Given the description of an element on the screen output the (x, y) to click on. 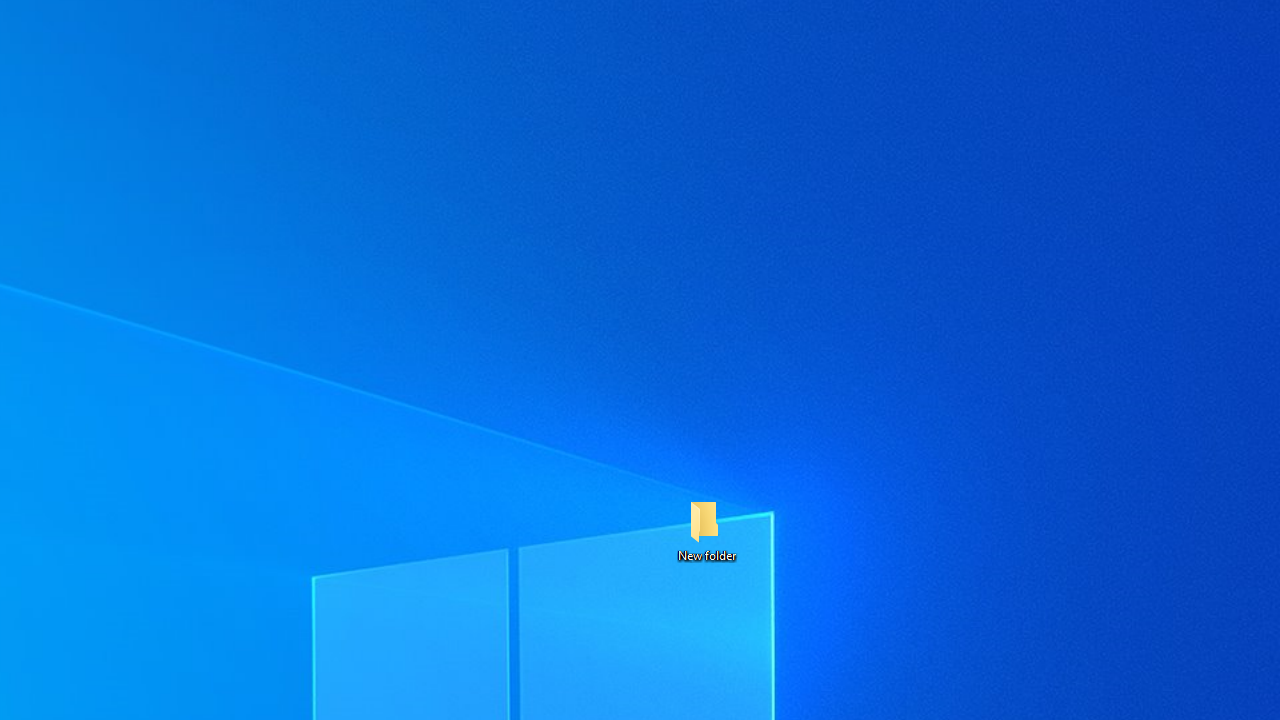
New folder (706, 530)
